Given the description of an element on the screen output the (x, y) to click on. 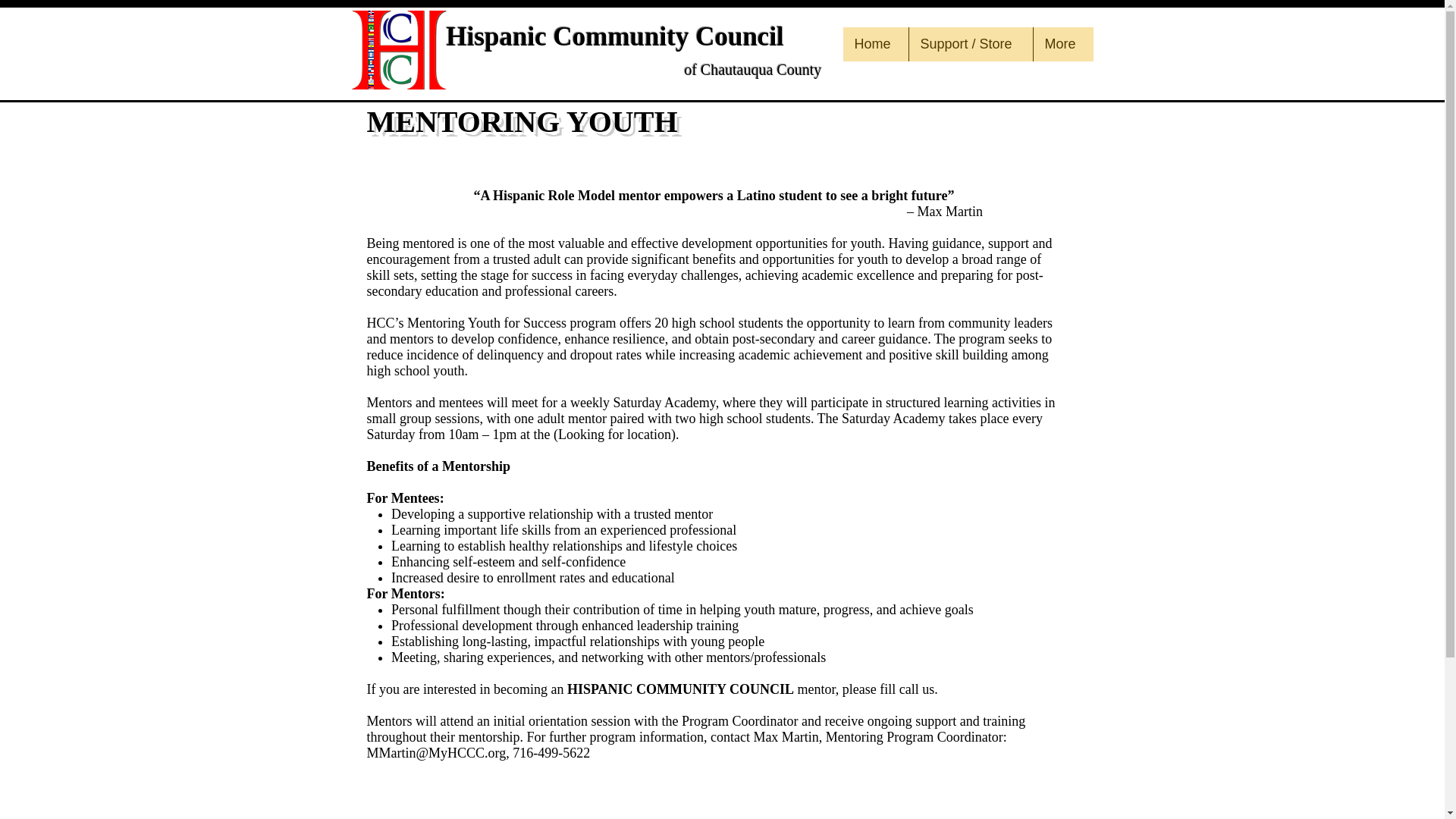
Home (875, 44)
